Given the description of an element on the screen output the (x, y) to click on. 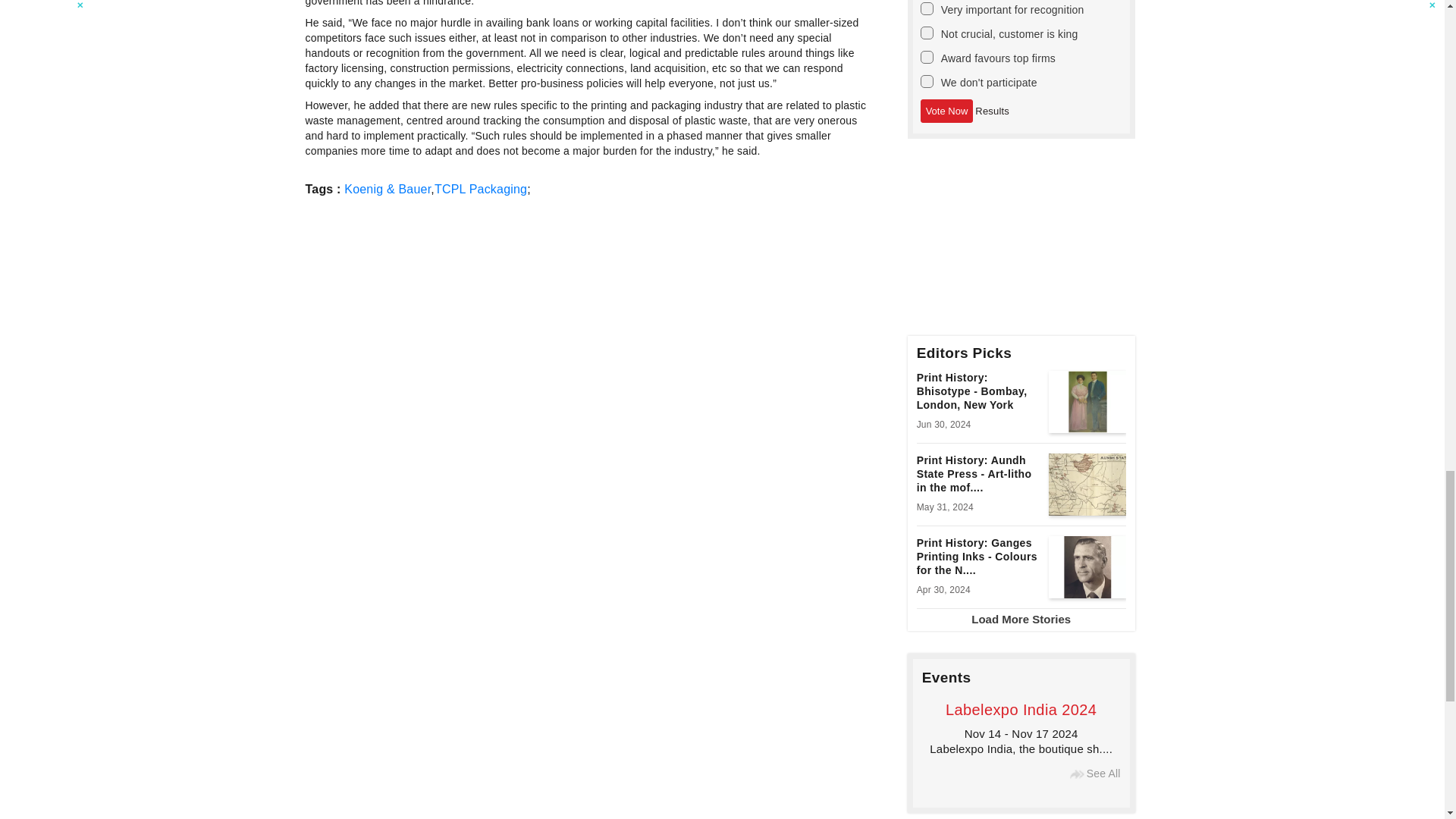
TCPL Packaging (480, 188)
